Given the description of an element on the screen output the (x, y) to click on. 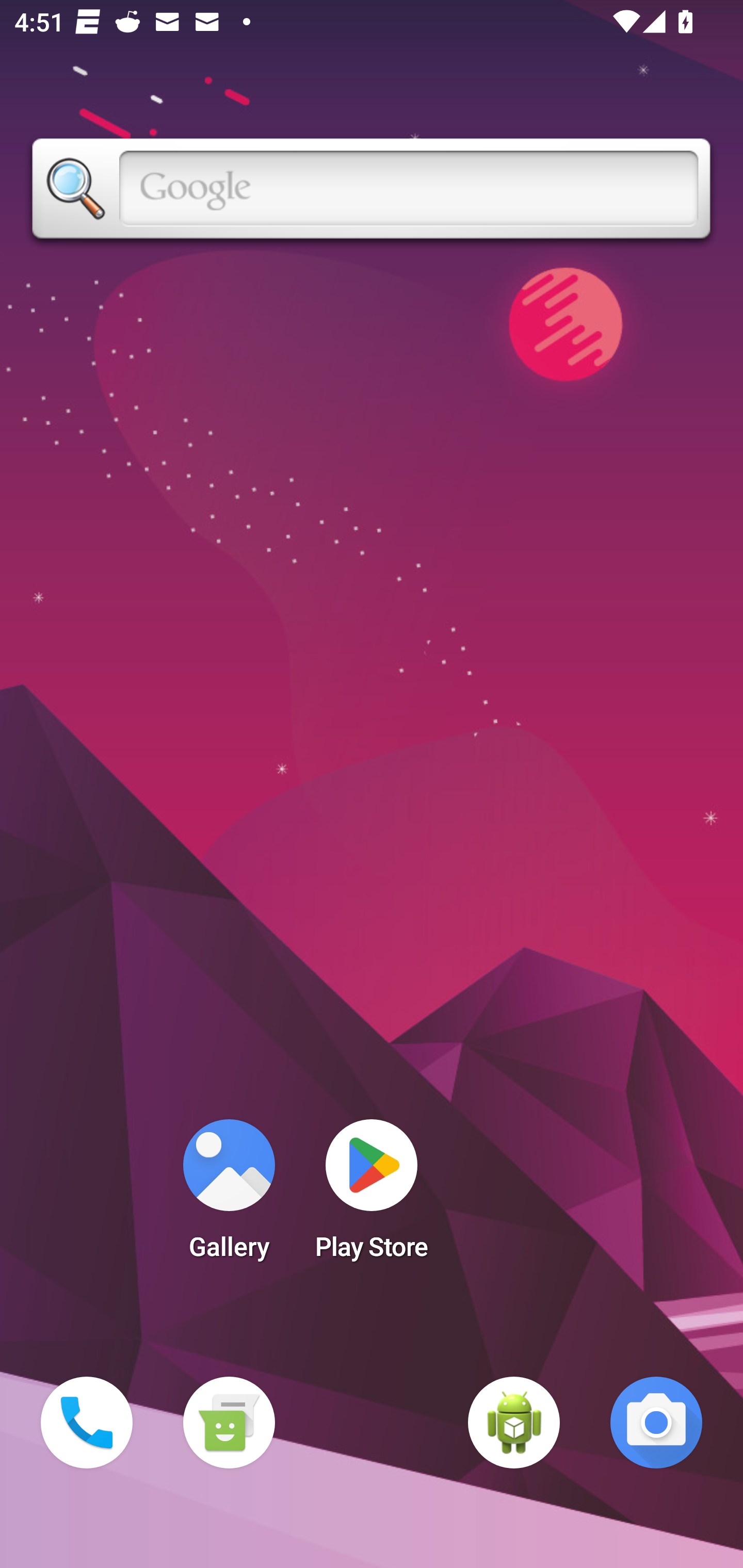
Gallery (228, 1195)
Play Store (371, 1195)
Phone (86, 1422)
Messaging (228, 1422)
WebView Browser Tester (513, 1422)
Camera (656, 1422)
